Given the description of an element on the screen output the (x, y) to click on. 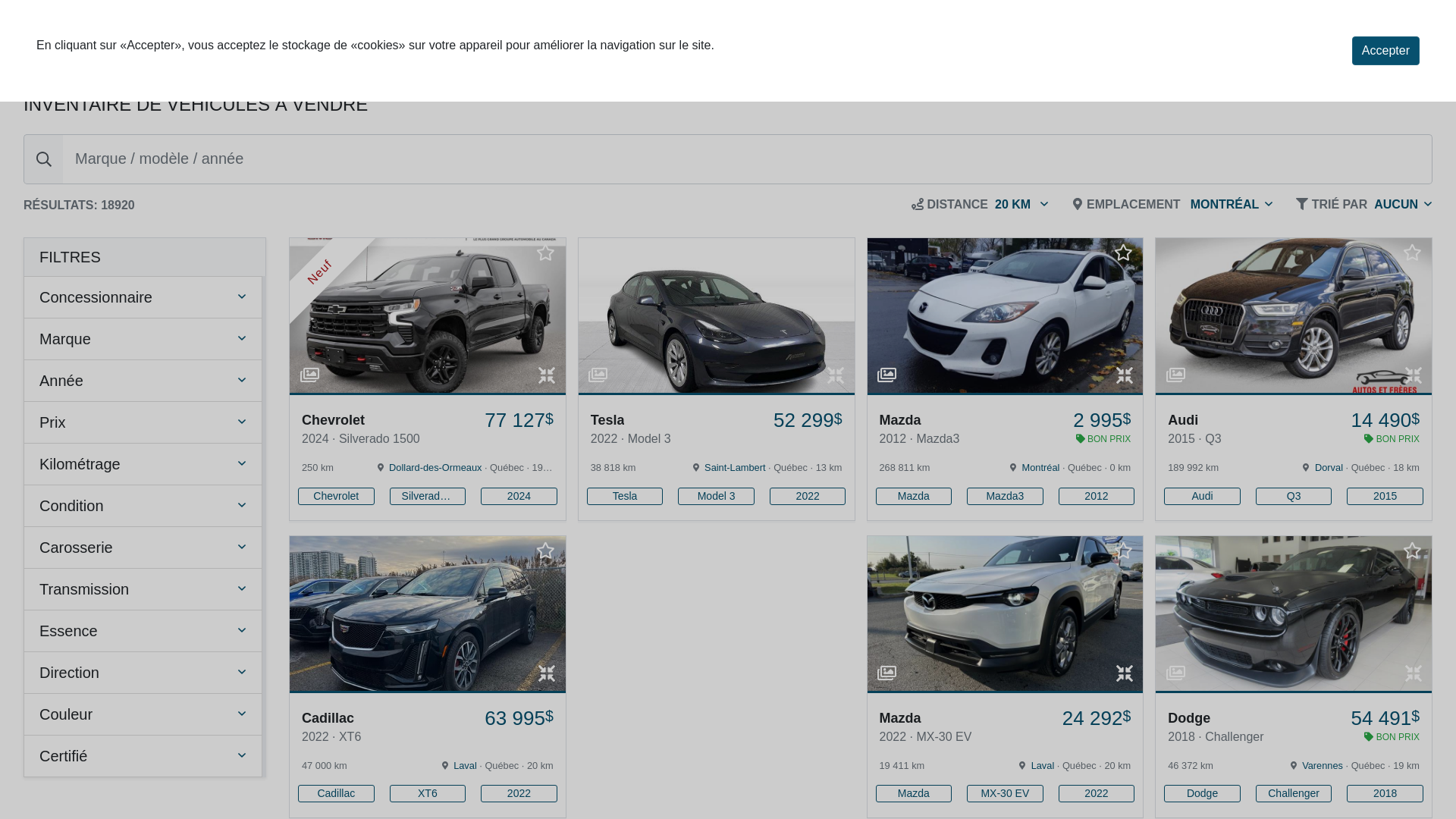
2012 Element type: text (1096, 496)
2024 Element type: text (518, 496)
2022 Element type: text (1096, 793)
Challenger Element type: text (1293, 793)
2015 Element type: text (1384, 496)
Accepter Element type: text (1385, 50)
Laval Element type: text (1042, 765)
Saint-Lambert Element type: text (734, 467)
Dodge Element type: text (1202, 793)
Cadillac Element type: text (336, 793)
2022 Element type: text (807, 496)
Audi Element type: text (1202, 496)
2022 Element type: text (518, 793)
AutoExpert Element type: hover (100, 42)
Tesla Element type: text (624, 496)
Q3 Element type: text (1293, 496)
Chevrolet Element type: text (336, 496)
Model 3 Element type: text (715, 496)
Dorval Element type: text (1328, 467)
XT6 Element type: text (427, 793)
Varennes Element type: text (1322, 765)
Silverado 1500 Element type: text (427, 496)
Laval Element type: text (464, 765)
Mazda Element type: text (913, 793)
MX-30 EV Element type: text (1004, 793)
Dollard-des-Ormeaux Element type: text (435, 467)
Mazda Element type: text (913, 496)
Mazda3 Element type: text (1004, 496)
2018 Element type: text (1384, 793)
